Given the description of an element on the screen output the (x, y) to click on. 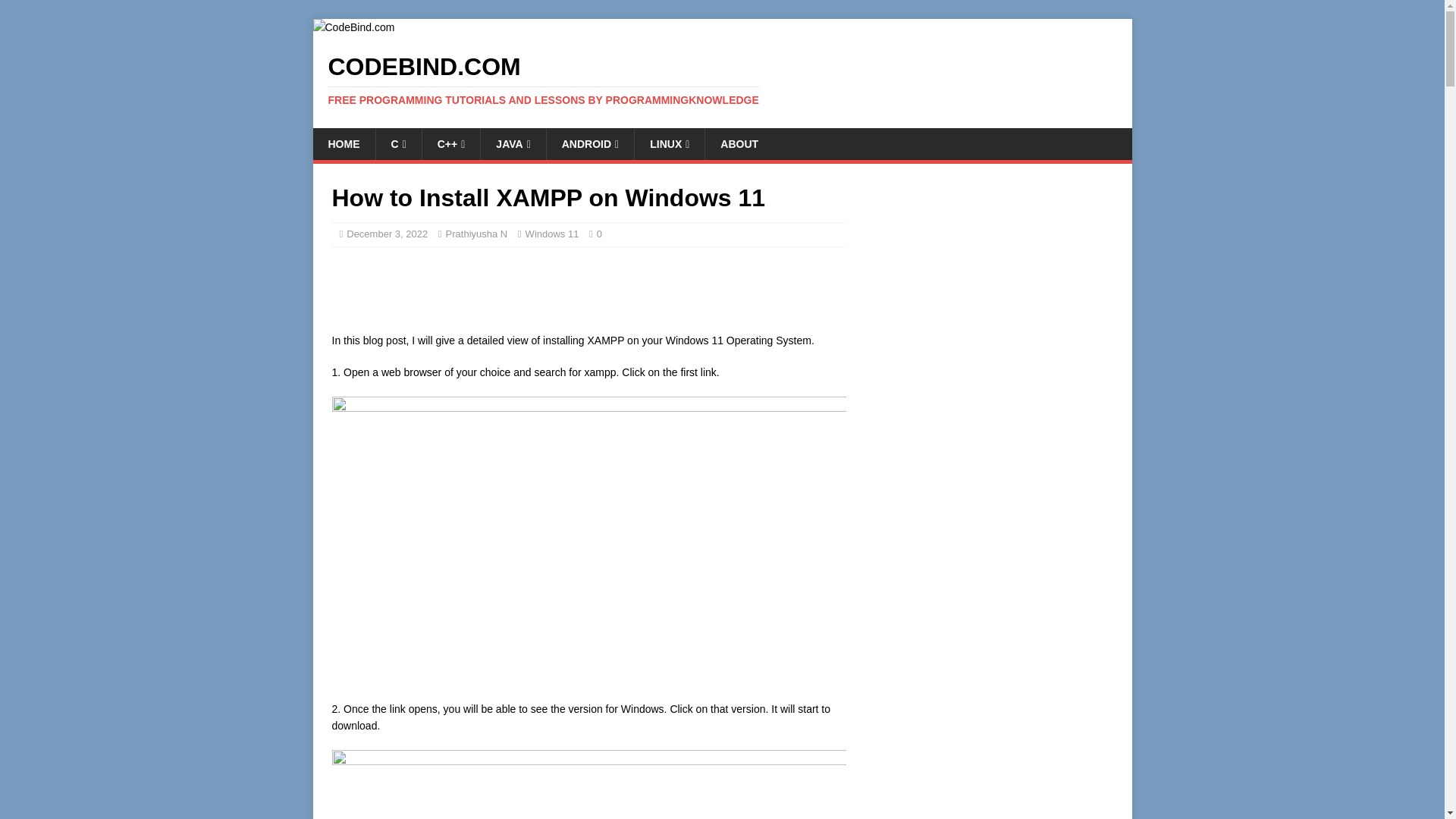
December 3, 2022 (387, 233)
Windows 11 (552, 233)
HOME (343, 143)
LINUX (668, 143)
C (397, 143)
CodeBind.com (353, 27)
ABOUT (738, 143)
ANDROID (589, 143)
JAVA (512, 143)
CodeBind.com (721, 80)
Prathiyusha N (476, 233)
